Given the description of an element on the screen output the (x, y) to click on. 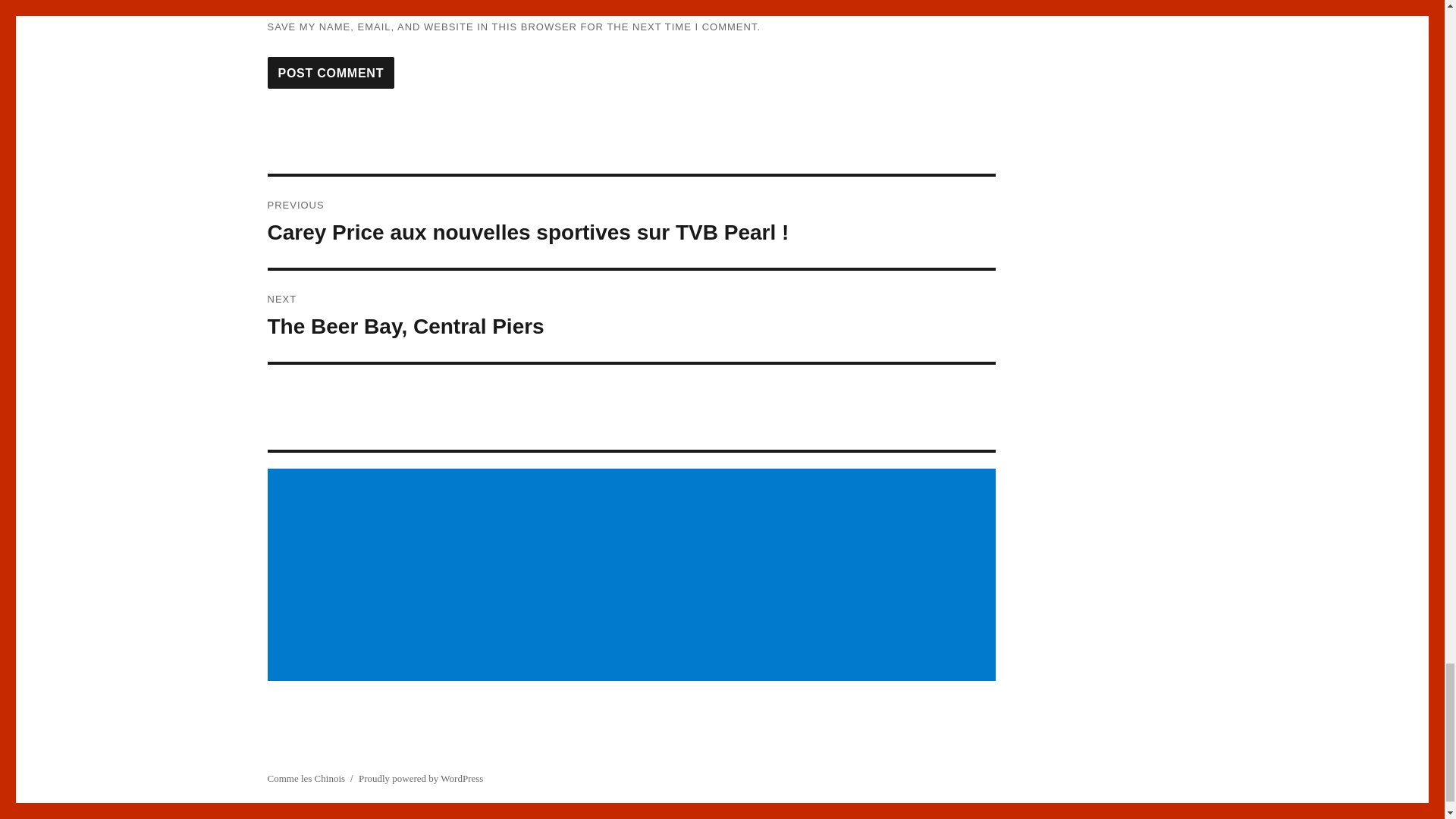
Post Comment (330, 72)
yes (271, 8)
Comme les Chinois (305, 778)
Proudly powered by WordPress (420, 778)
Post Comment (330, 72)
